Given the description of an element on the screen output the (x, y) to click on. 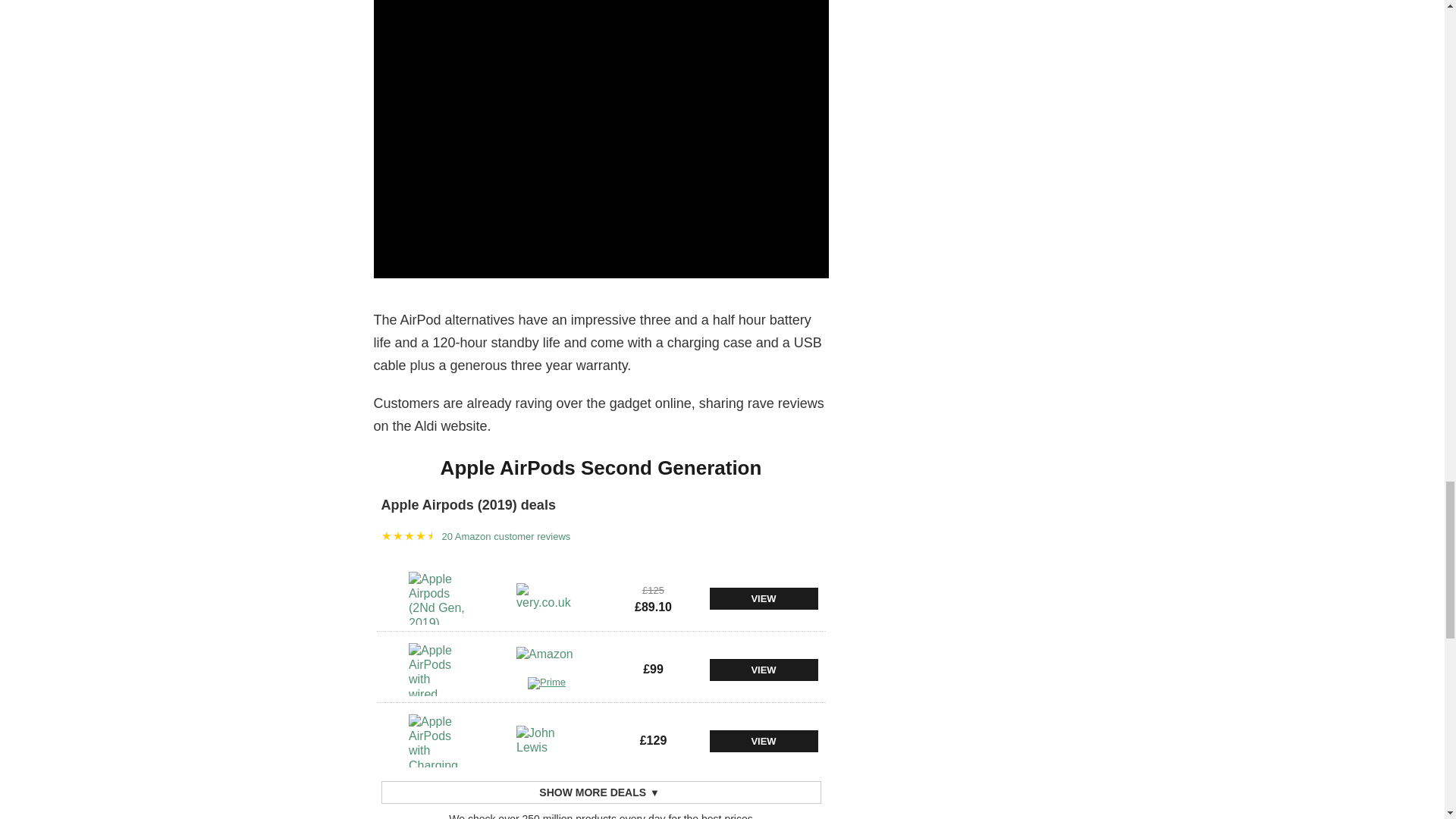
very.co.uk (546, 598)
Apple AirPods with Charging... (438, 740)
Prime (546, 684)
John Lewis (546, 740)
Amazon (546, 662)
Apple AirPods with wired... (438, 669)
